Given the description of an element on the screen output the (x, y) to click on. 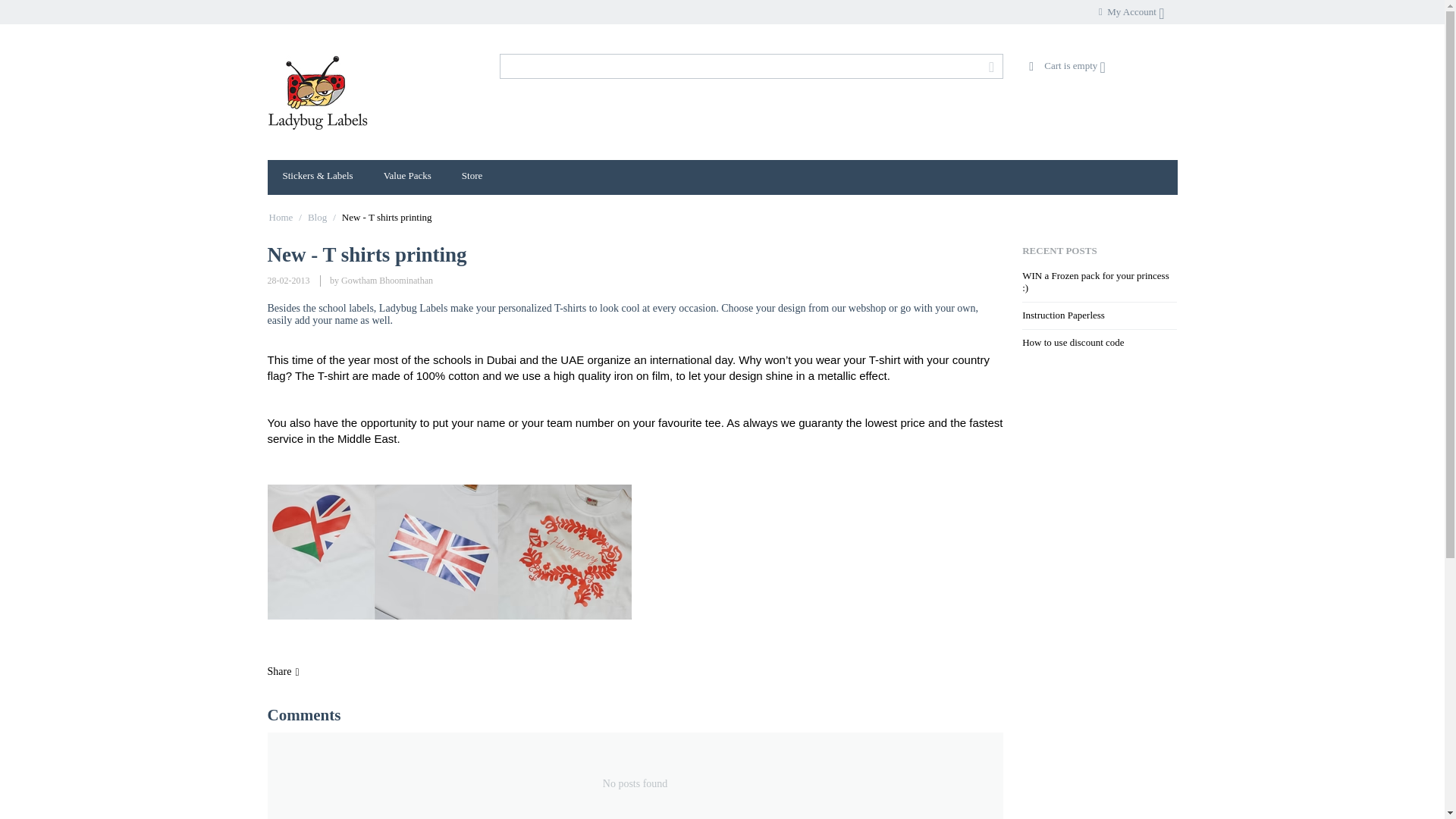
Value Packs (407, 176)
Search products (751, 66)
Cart is empty (1067, 65)
Store (471, 176)
  My Account (1130, 11)
